Given the description of an element on the screen output the (x, y) to click on. 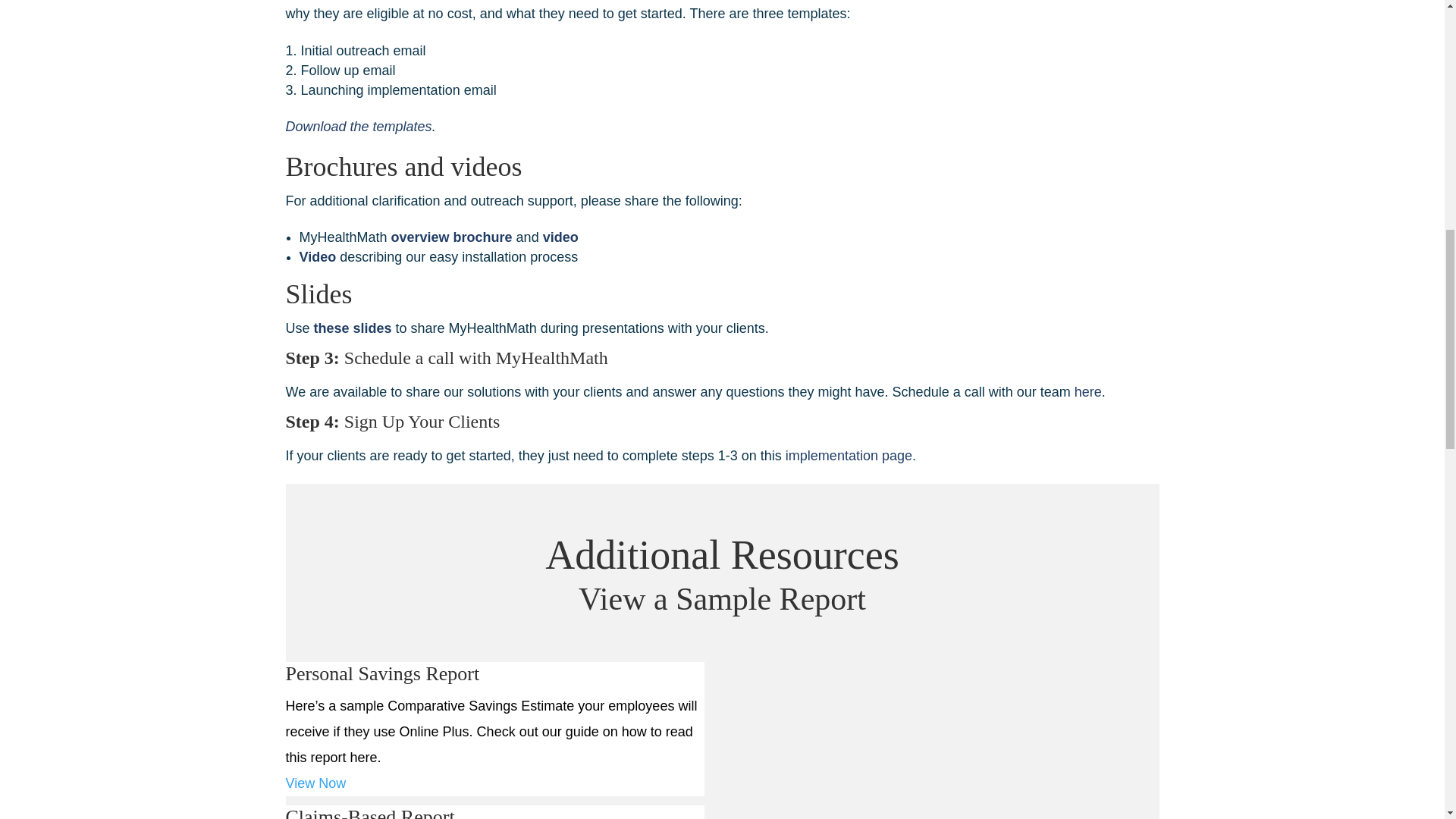
Video (317, 256)
Claims-Based Report (494, 812)
these slides (352, 328)
View Now (315, 783)
Download the templates (357, 126)
Step 4: Sign Up Your Clients (392, 421)
overview brochure (1088, 391)
implementation page. (451, 237)
